Given the description of an element on the screen output the (x, y) to click on. 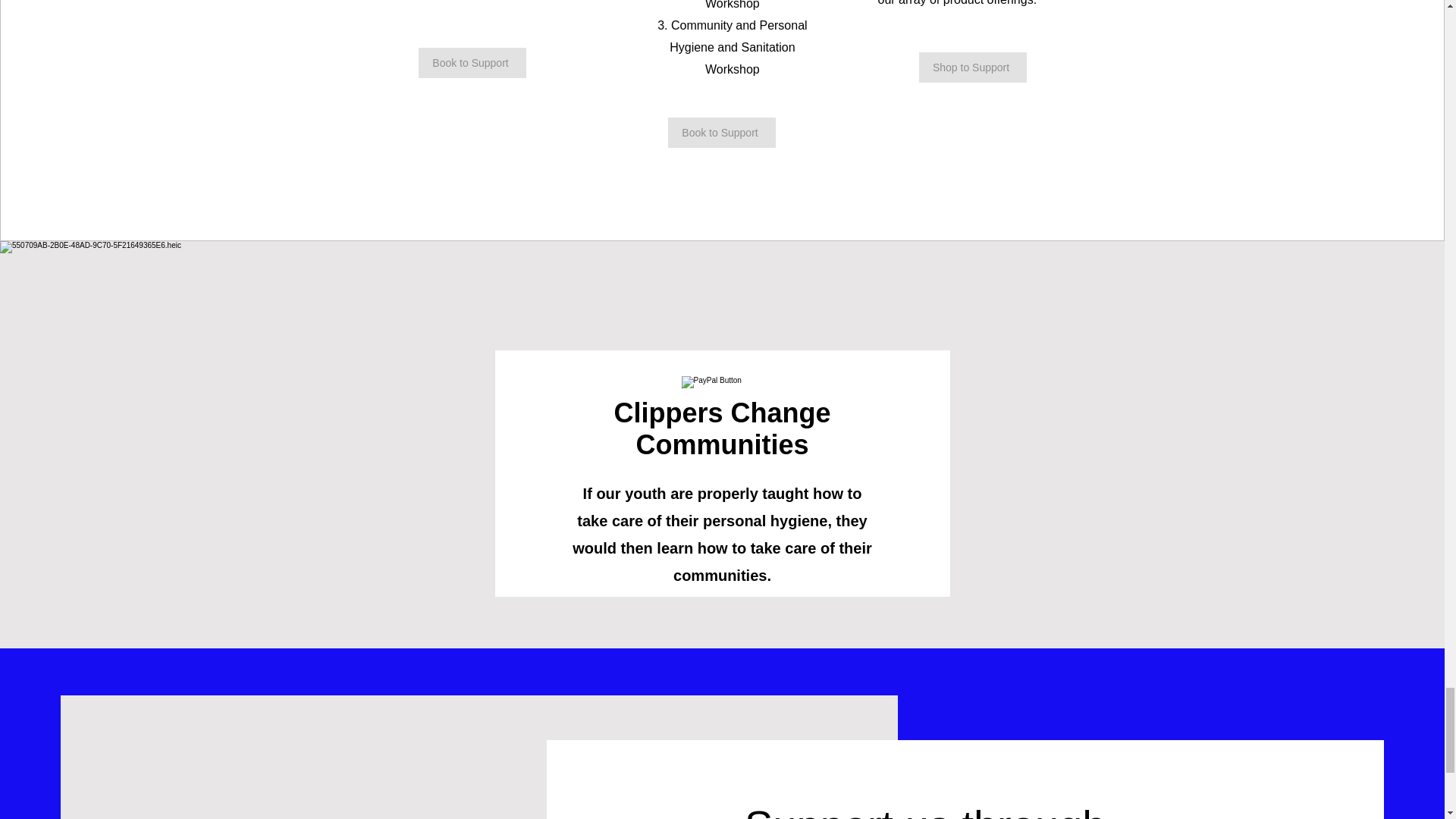
Book to Support (472, 62)
Book to Support (720, 132)
Shop to Support (972, 67)
